Given the description of an element on the screen output the (x, y) to click on. 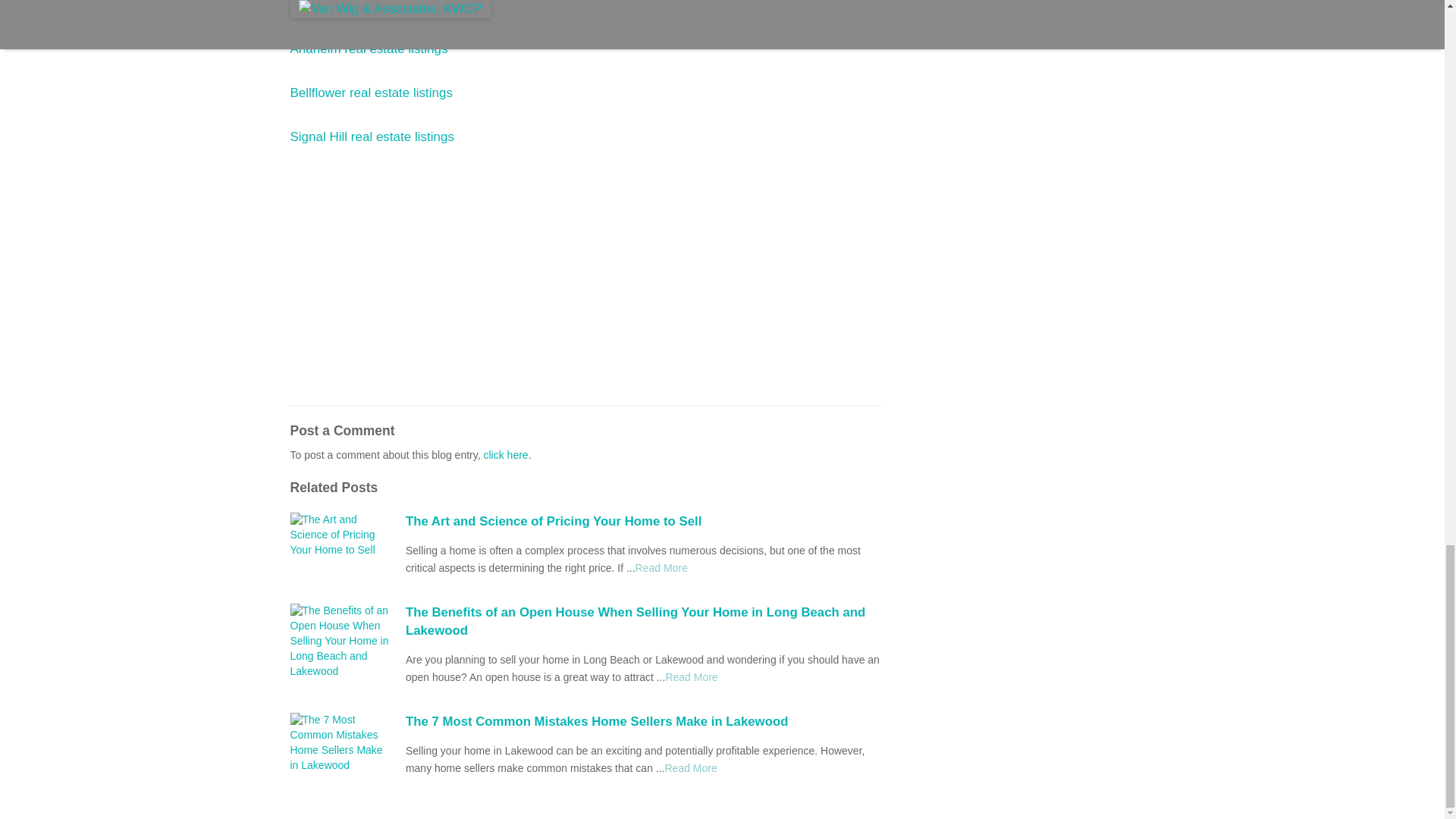
3 Ways to Speed Up Closing When Selling Your Home      (691, 676)
The Art and Science of Pricing Your Home to Sell (643, 521)
3 Ways to Speed Up Closing When Selling Your Home      (660, 567)
The 7 Most Common Mistakes Home Sellers Make in Lakewood (643, 721)
3 Ways to Speed Up Closing When Selling Your Home      (689, 767)
